Given the description of an element on the screen output the (x, y) to click on. 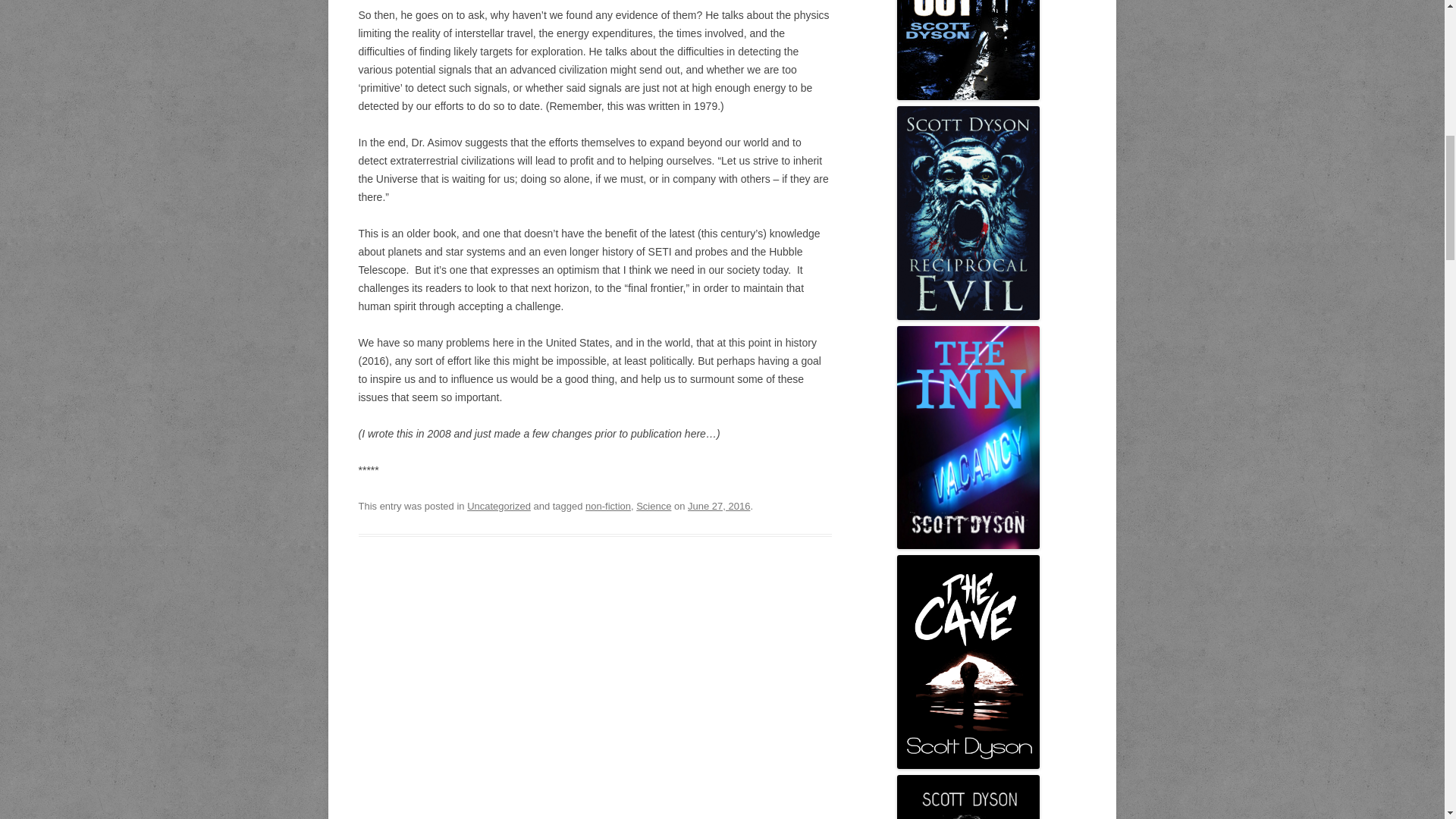
non-fiction (607, 505)
Science (653, 505)
June 27, 2016 (718, 505)
Uncategorized (499, 505)
4:04 pm (718, 505)
